Given the description of an element on the screen output the (x, y) to click on. 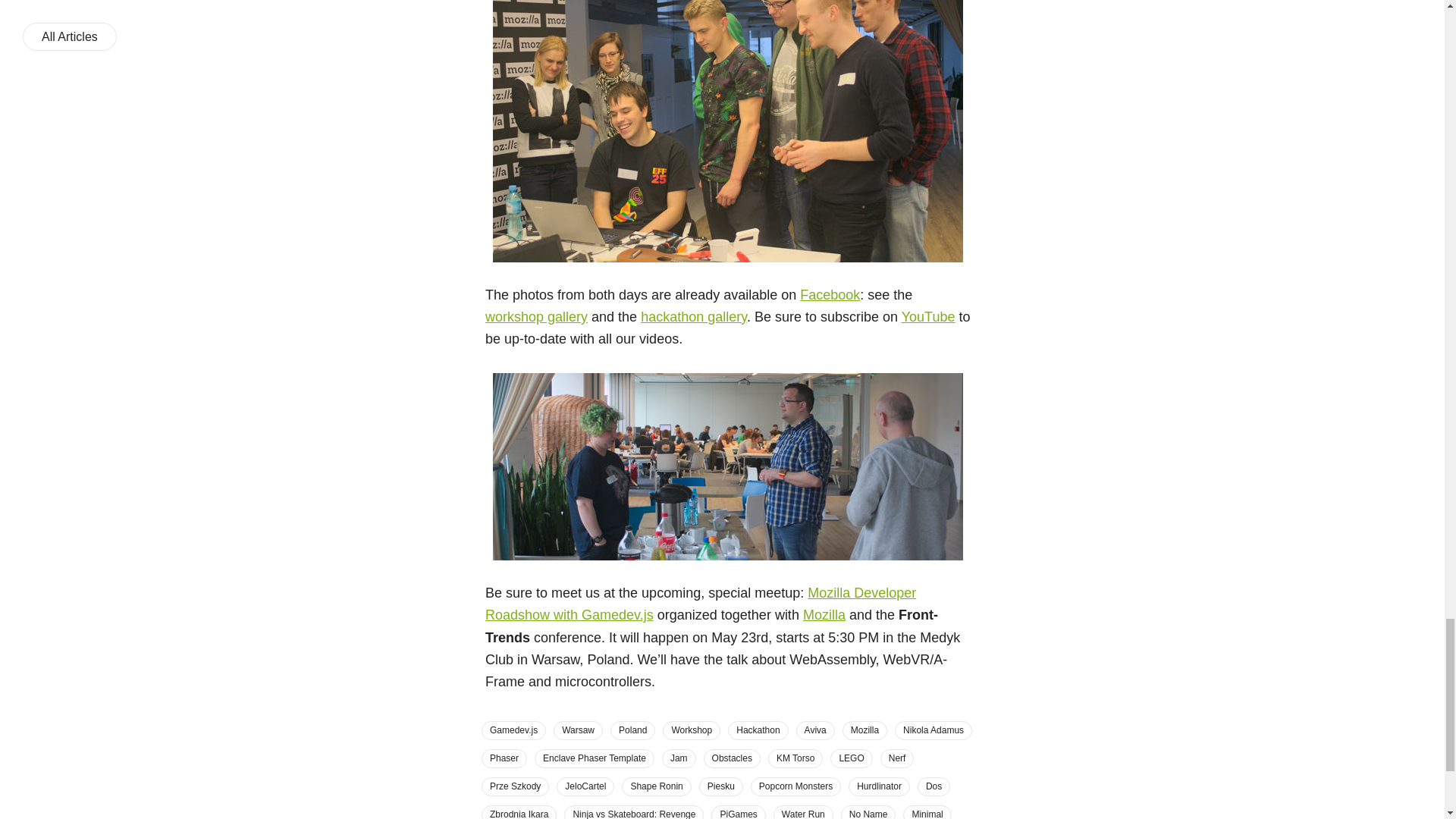
Jam (678, 758)
Obstacles (731, 758)
Hackathon (757, 729)
hackathon gallery (693, 316)
Facebook (829, 294)
KM Torso (795, 758)
YouTube (928, 316)
Phaser (504, 758)
Aviva (815, 729)
Mozilla (864, 729)
Poland (632, 729)
Nikola Adamus (933, 729)
LEGO (850, 758)
Mozilla Developer Roadshow with Gamedev.js (699, 603)
Workshop (691, 729)
